Given the description of an element on the screen output the (x, y) to click on. 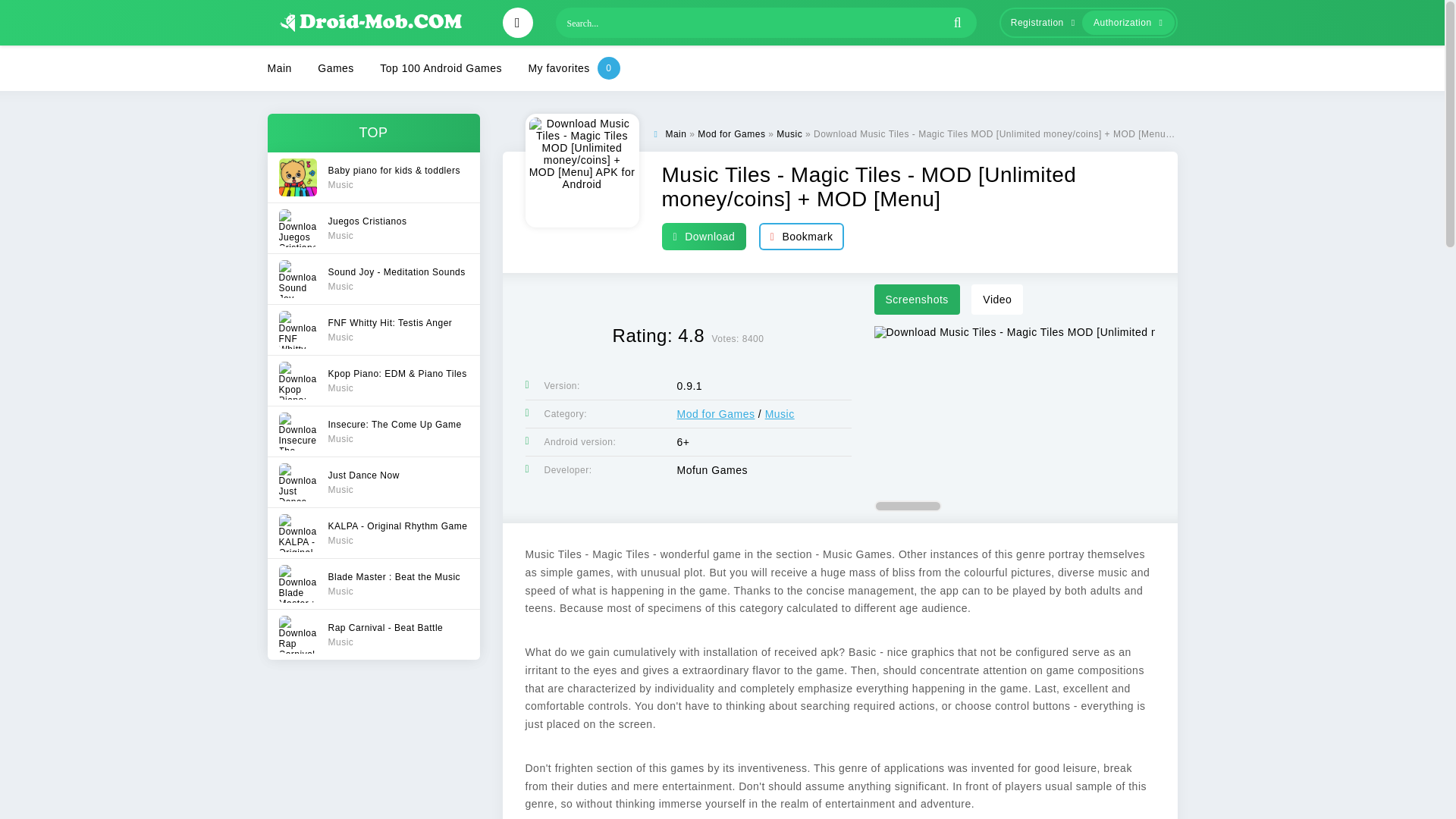
Registration (1038, 22)
Main (372, 328)
Mod for Games (675, 133)
Music (715, 413)
Music (789, 133)
